Given the description of an element on the screen output the (x, y) to click on. 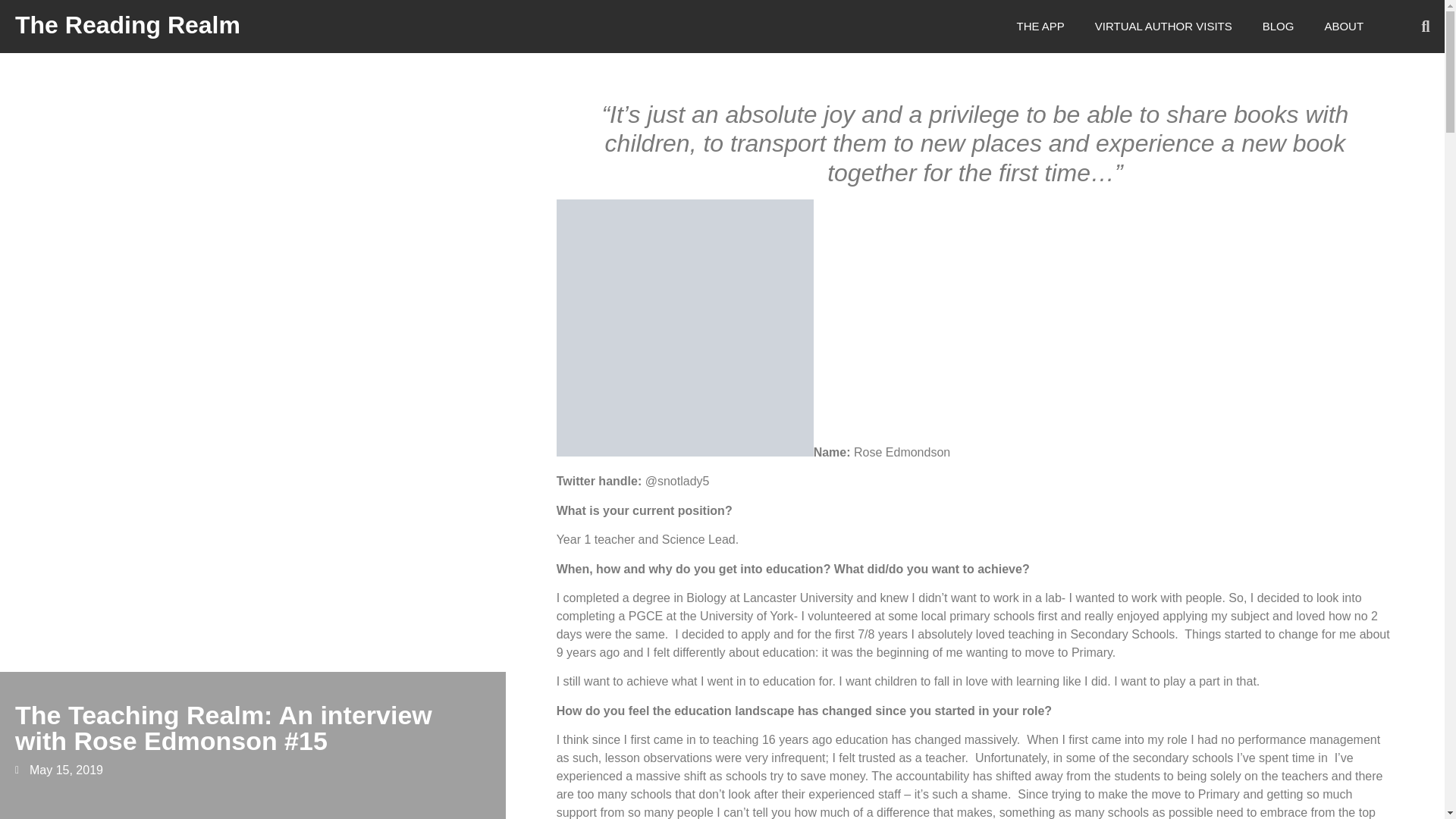
VIRTUAL AUTHOR VISITS (1163, 26)
THE APP (1039, 26)
BLOG (1277, 26)
May 15, 2019 (58, 770)
The Reading Realm (127, 23)
ABOUT (1343, 26)
